Given the description of an element on the screen output the (x, y) to click on. 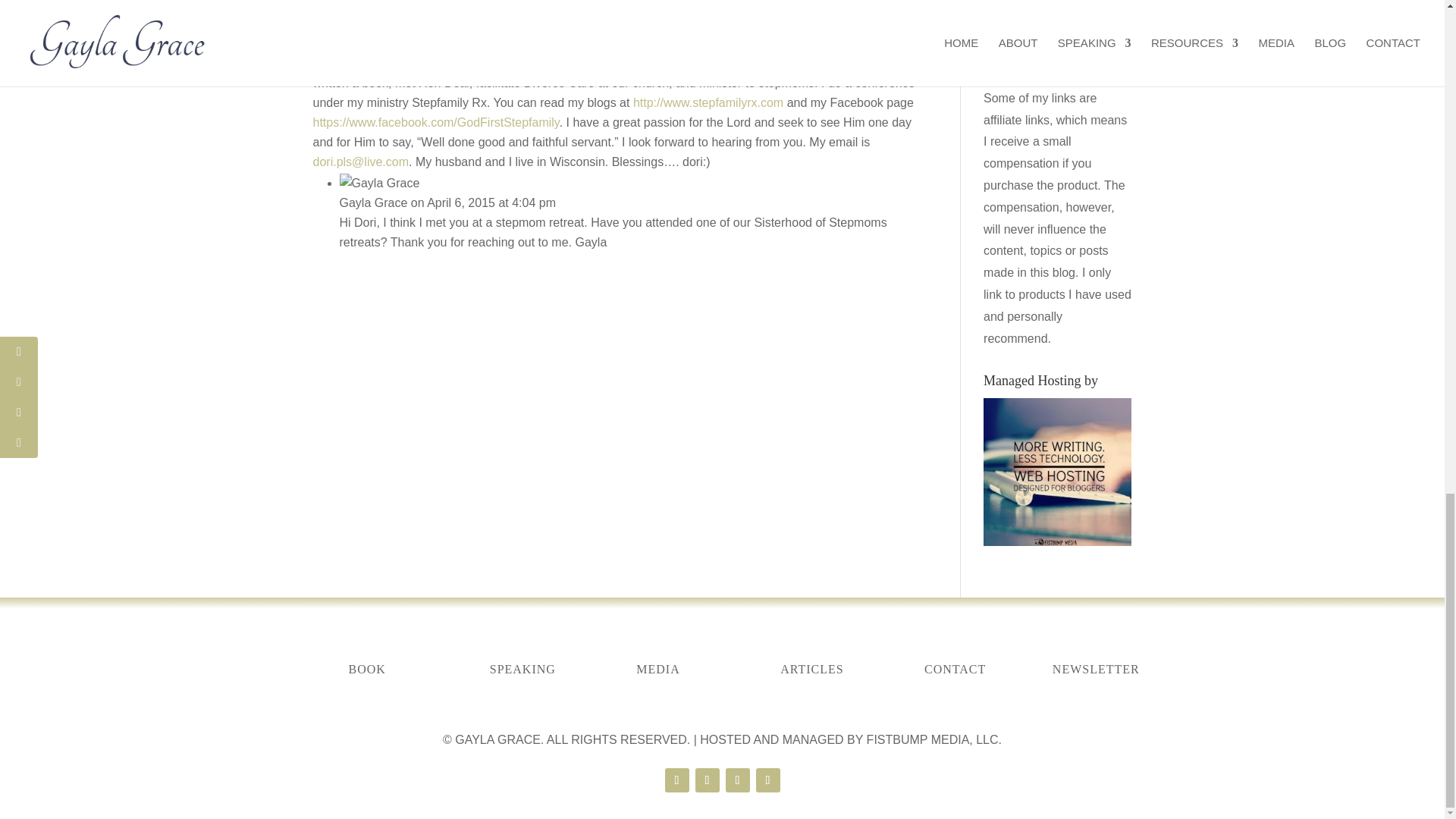
Follow on LinkedIn (766, 780)
Follow on X (706, 780)
Follow on Pinterest (737, 780)
Dori Pulse (340, 42)
Follow on Facebook (675, 780)
